Given the description of an element on the screen output the (x, y) to click on. 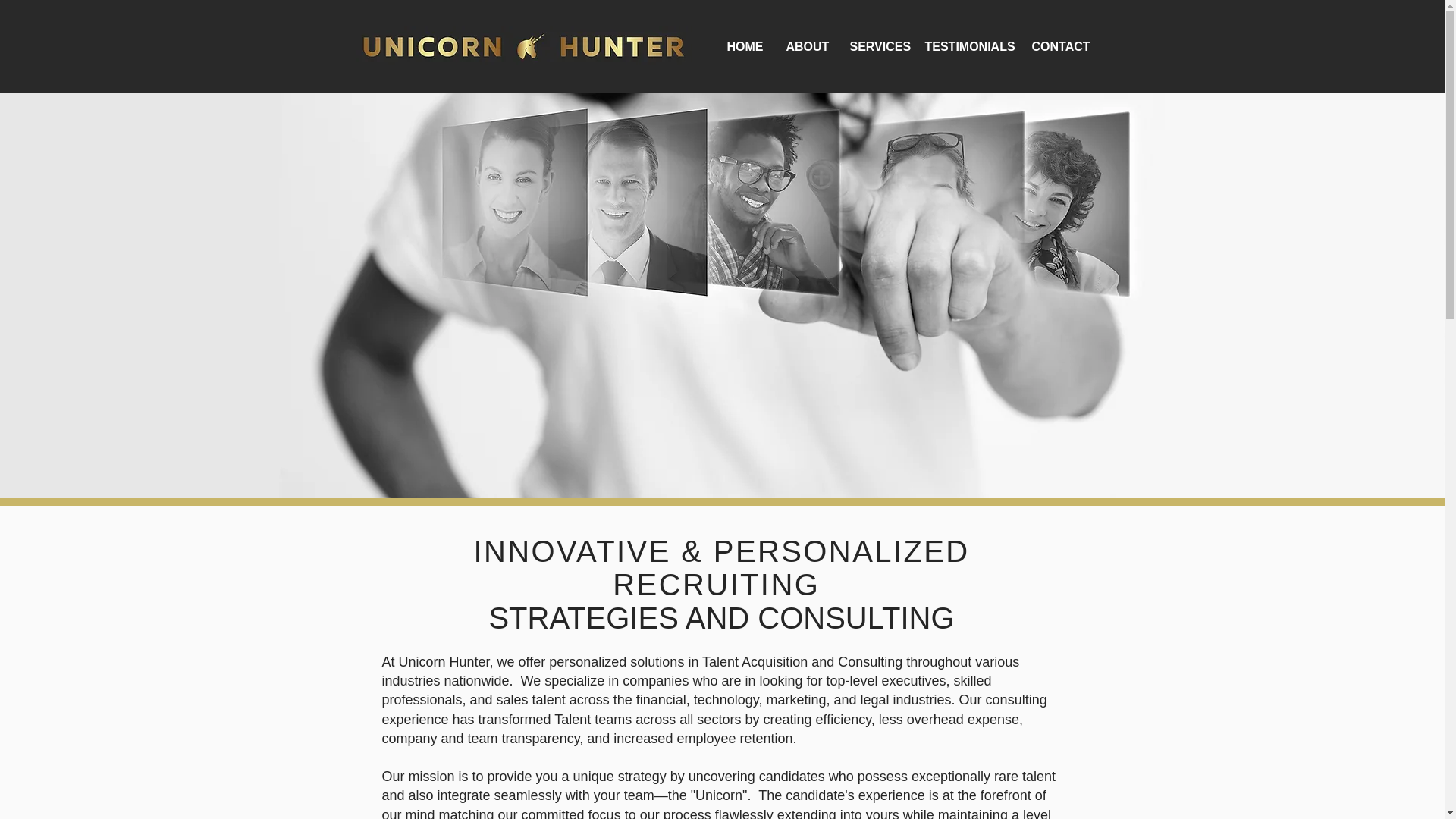
TESTIMONIALS (966, 46)
ABOUT (806, 46)
HOME (745, 46)
